Given the description of an element on the screen output the (x, y) to click on. 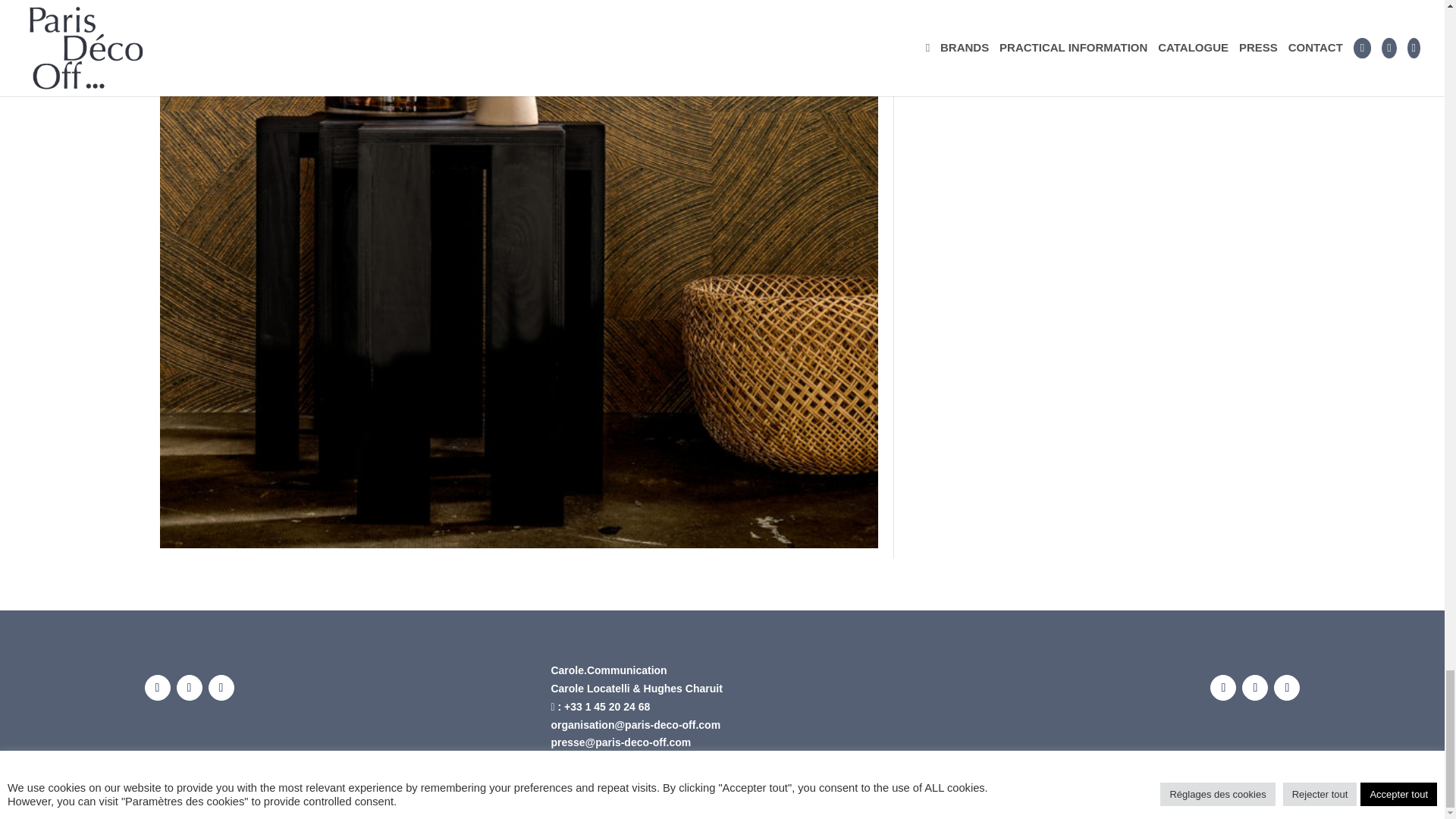
Follow on Facebook (1222, 687)
Follow on Youtube (1287, 687)
Follow on Instagram (1254, 687)
Follow on Facebook (157, 687)
Follow on Youtube (220, 687)
Follow on Instagram (189, 687)
